Given the description of an element on the screen output the (x, y) to click on. 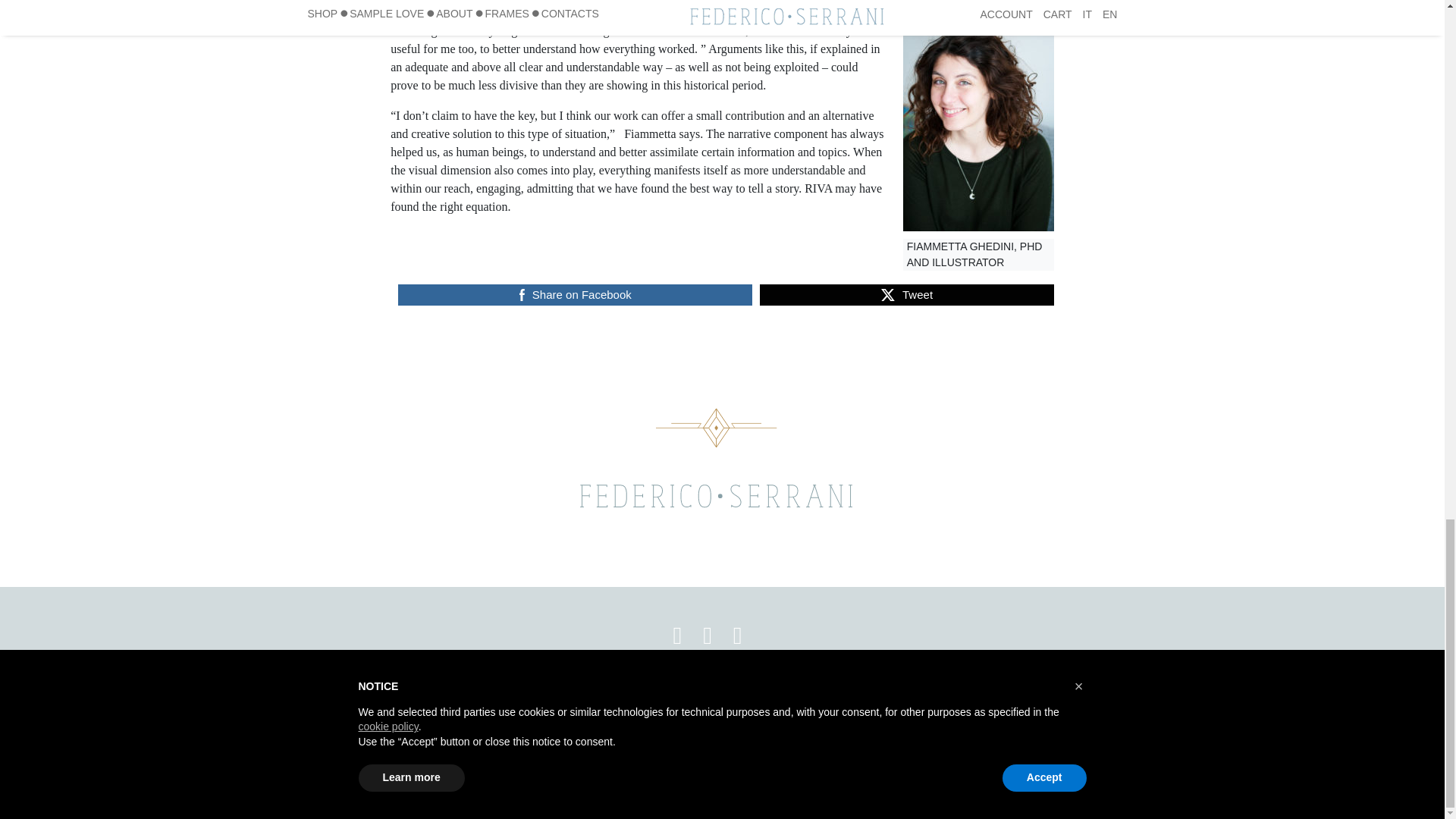
Tweet (906, 294)
Share on Facebook (574, 294)
Cookie Policy (663, 718)
Privacy Policy (561, 718)
Contacts (888, 718)
Terms and conditions (783, 718)
